Given the description of an element on the screen output the (x, y) to click on. 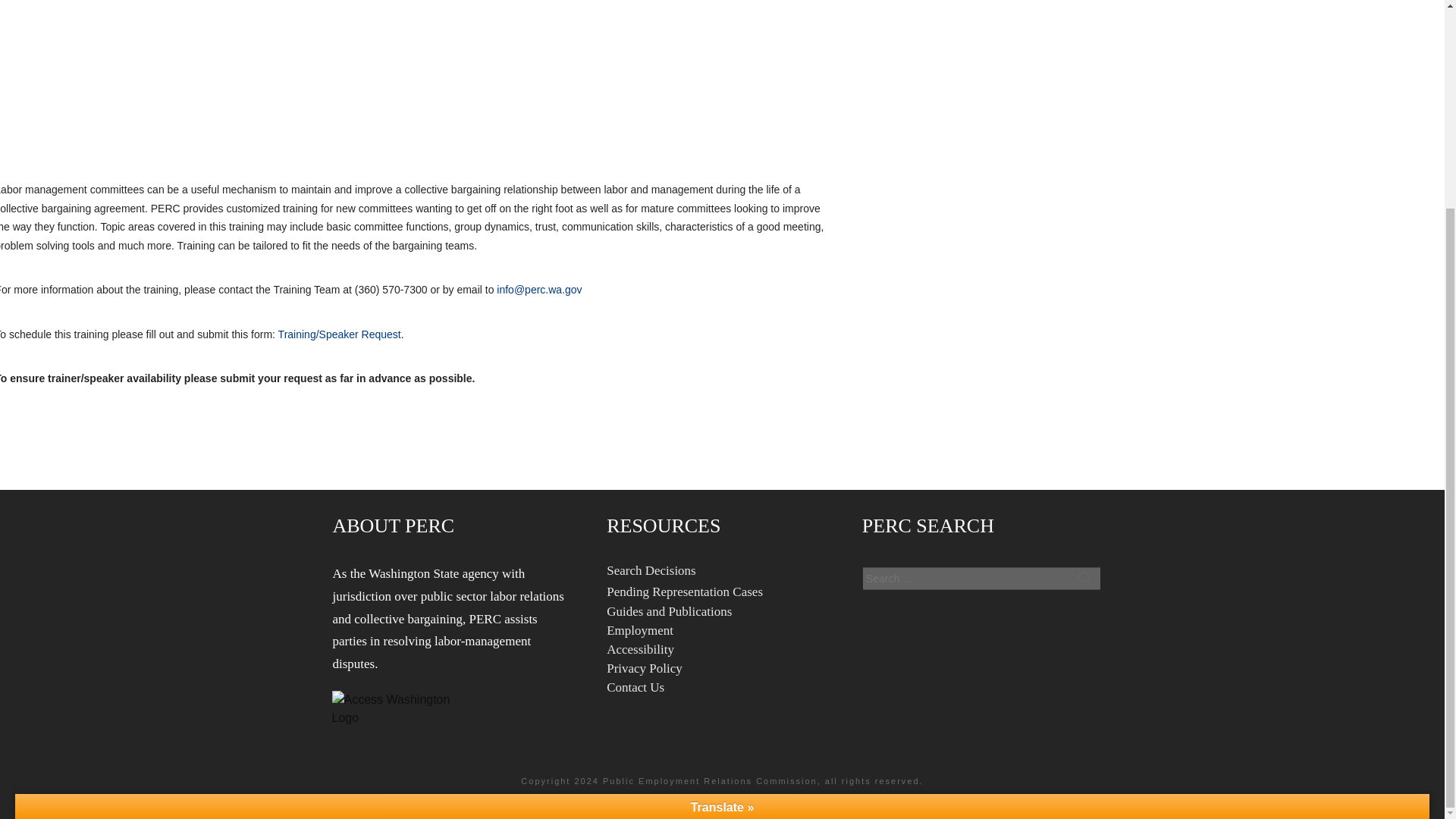
Employment (639, 630)
Search Decisions (651, 570)
Search (1083, 578)
Privacy Policy (644, 667)
awLogo2011-167 (394, 707)
Guides and Publications (669, 611)
Accessibility (640, 649)
Contact Us (635, 687)
Search (1083, 578)
Search (1083, 578)
